Given the description of an element on the screen output the (x, y) to click on. 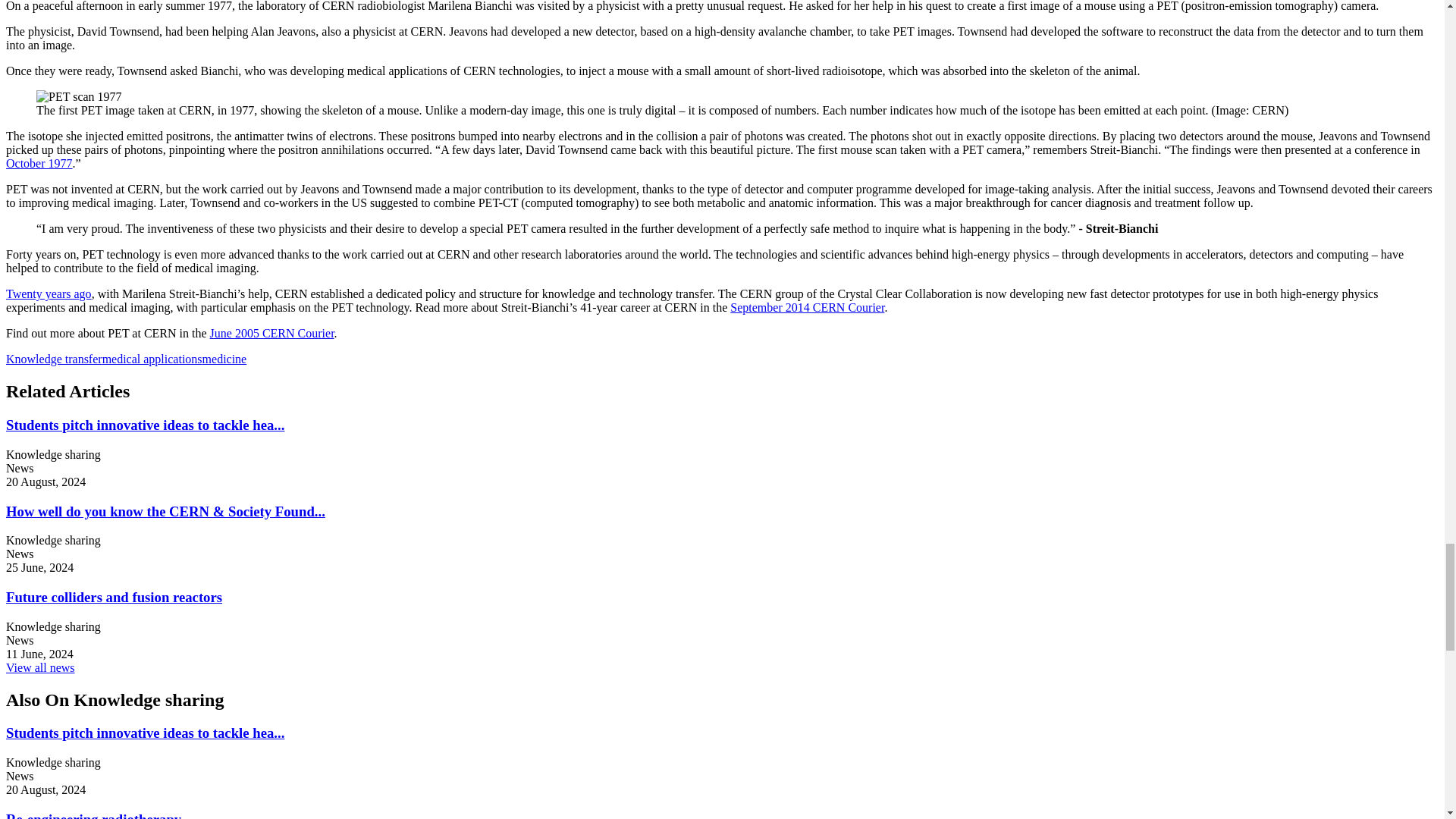
Future colliders and fusion reactors (113, 596)
Re-engineering radiotherapy (92, 815)
